Given the description of an element on the screen output the (x, y) to click on. 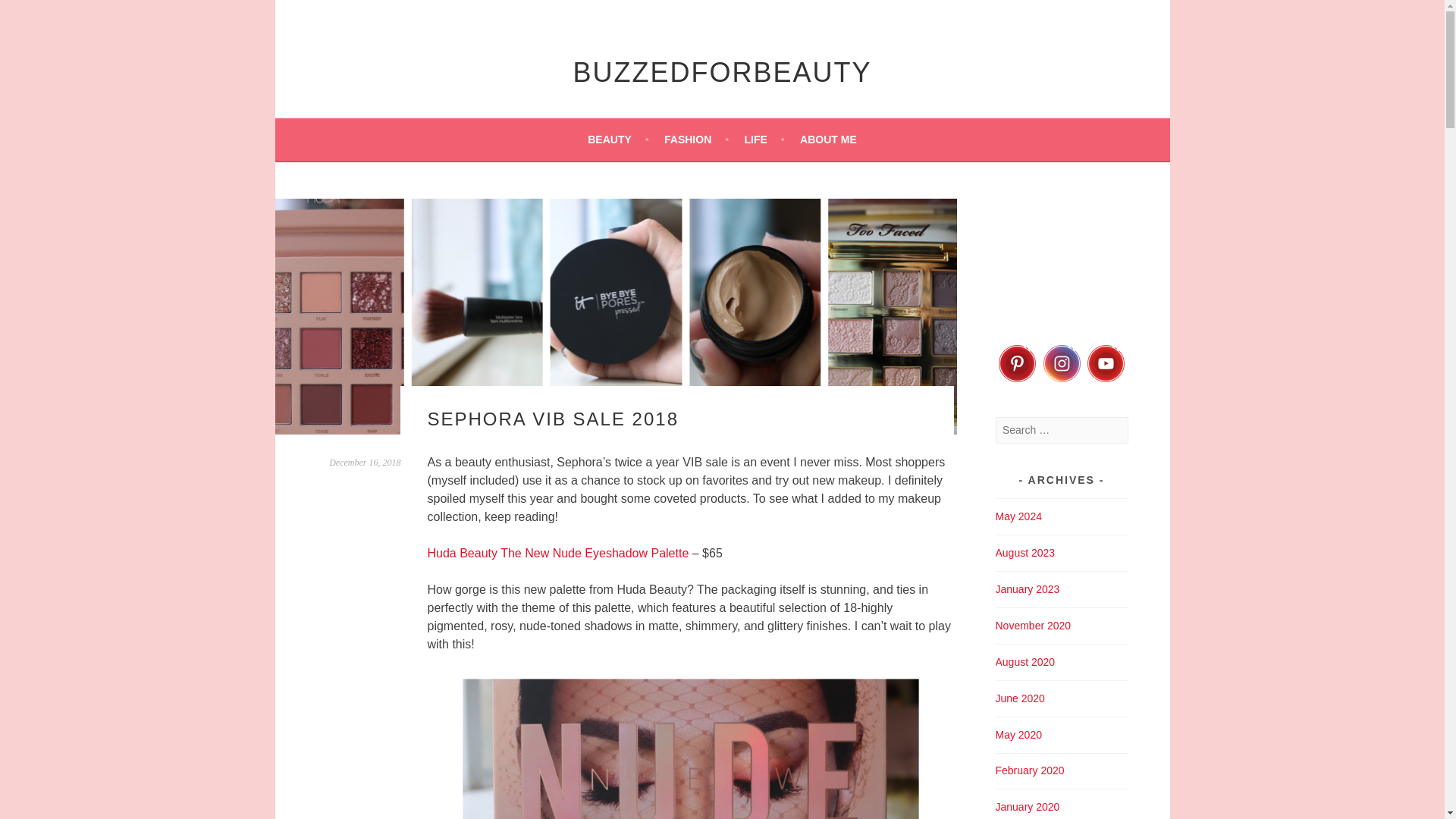
YouTube (1105, 363)
ABOUT ME (828, 139)
Pinterest (1016, 363)
Huda Beauty The New Nude Eyeshadow Palette (558, 553)
BuzzedforBeauty (721, 71)
December 16, 2018 (364, 462)
BEAUTY (617, 139)
FASHION (696, 139)
Search (30, 13)
BUZZEDFORBEAUTY (721, 71)
Permalink to Sephora VIB Sale 2018 (364, 462)
Instagram (1061, 363)
LIFE (764, 139)
